Given the description of an element on the screen output the (x, y) to click on. 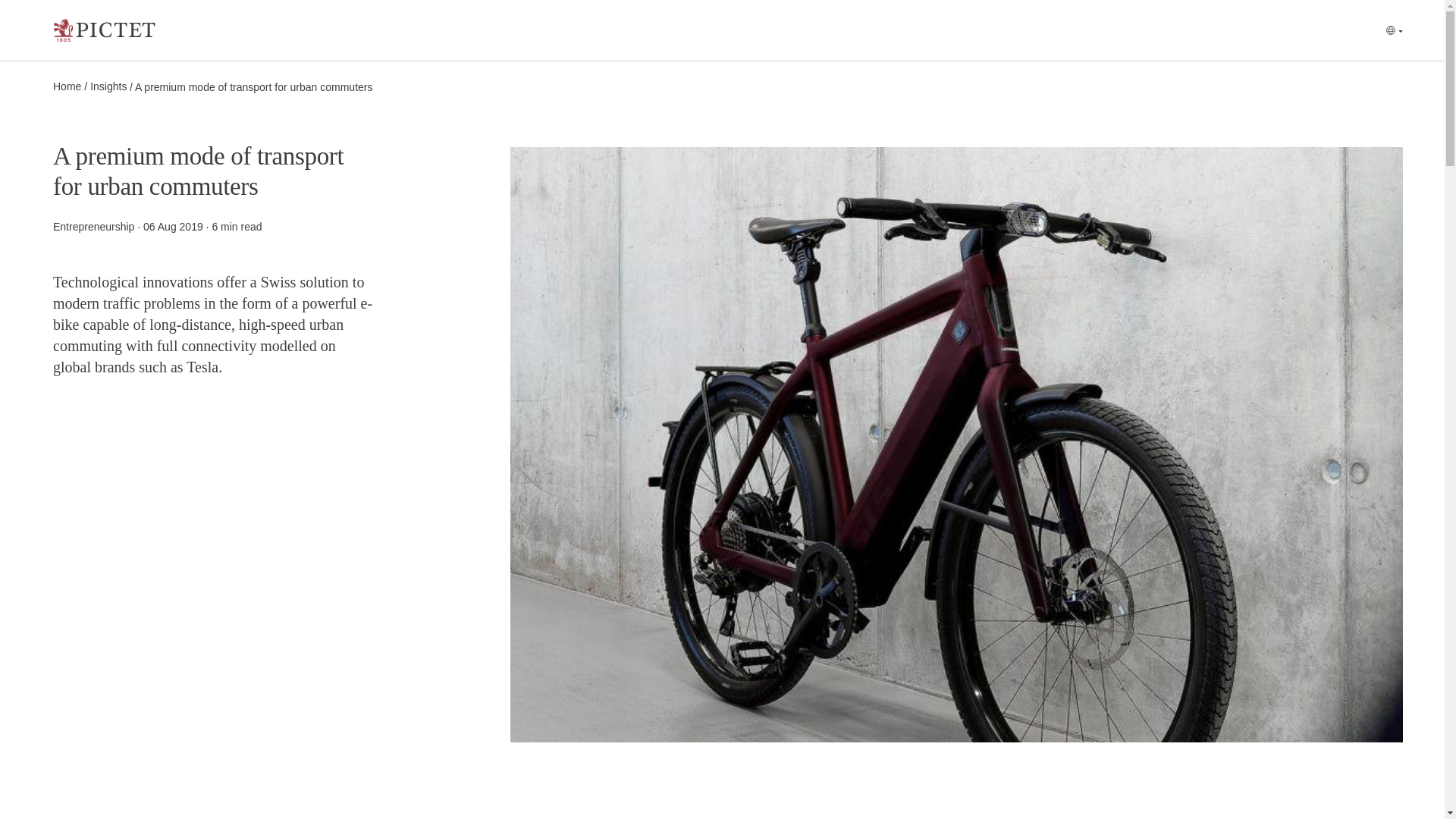
Home (66, 86)
Insights (108, 86)
